Given the description of an element on the screen output the (x, y) to click on. 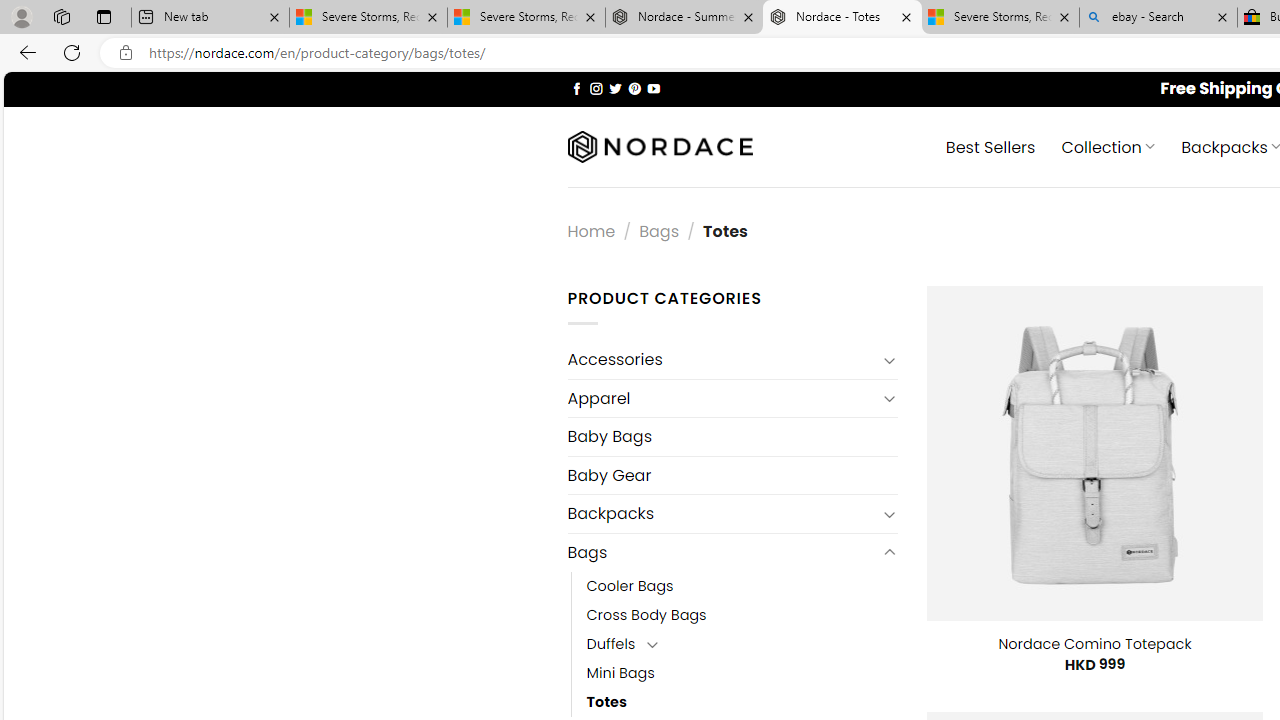
Accessories (721, 359)
Cooler Bags (630, 585)
Cross Body Bags (742, 614)
Follow on Instagram (596, 88)
Baby Gear (732, 475)
Cross Body Bags (646, 614)
Follow on Twitter (615, 88)
Mini Bags (742, 673)
Follow on YouTube (653, 88)
Baby Gear (732, 475)
